Given the description of an element on the screen output the (x, y) to click on. 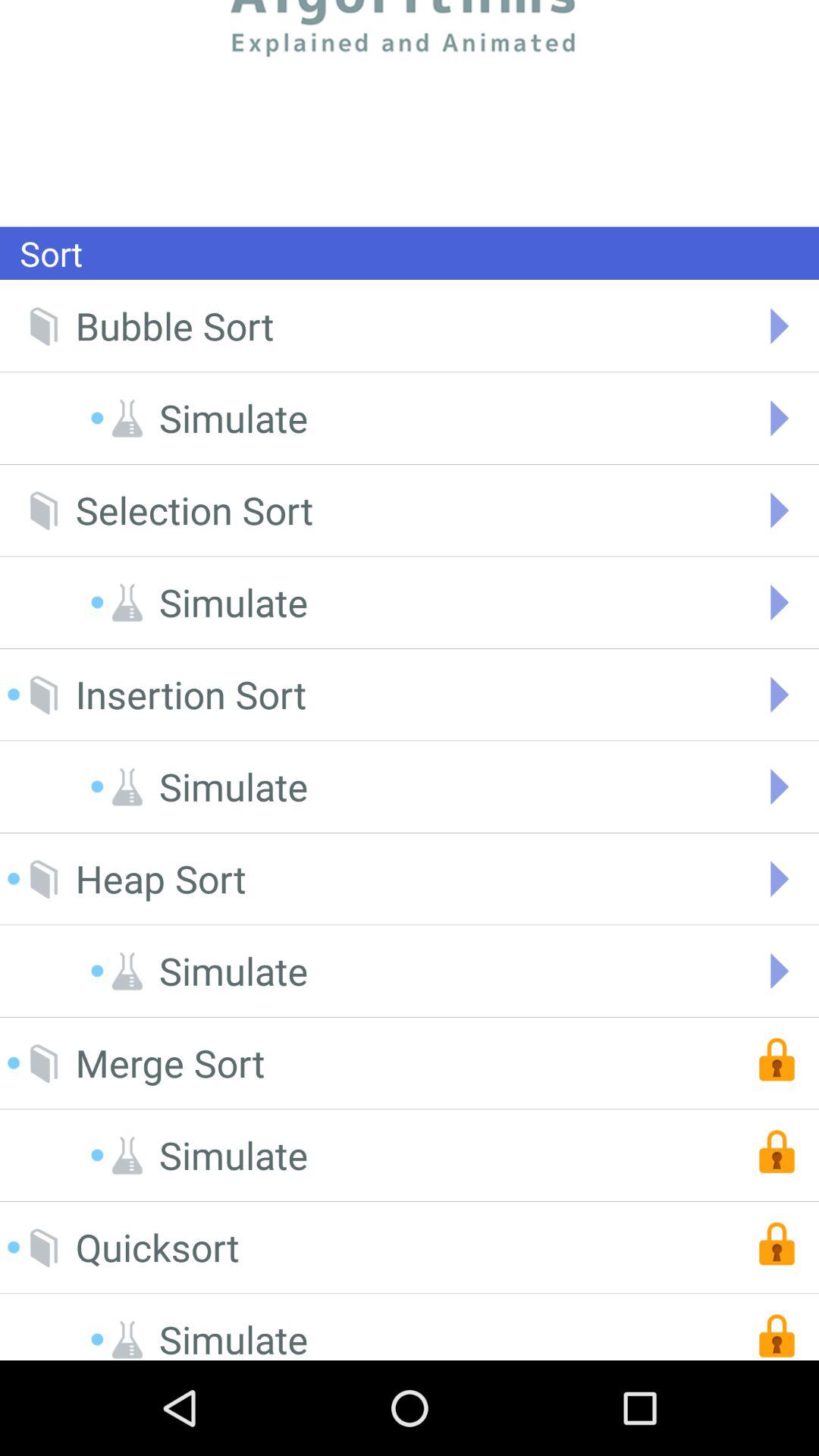
open the item above simulate icon (157, 1247)
